Given the description of an element on the screen output the (x, y) to click on. 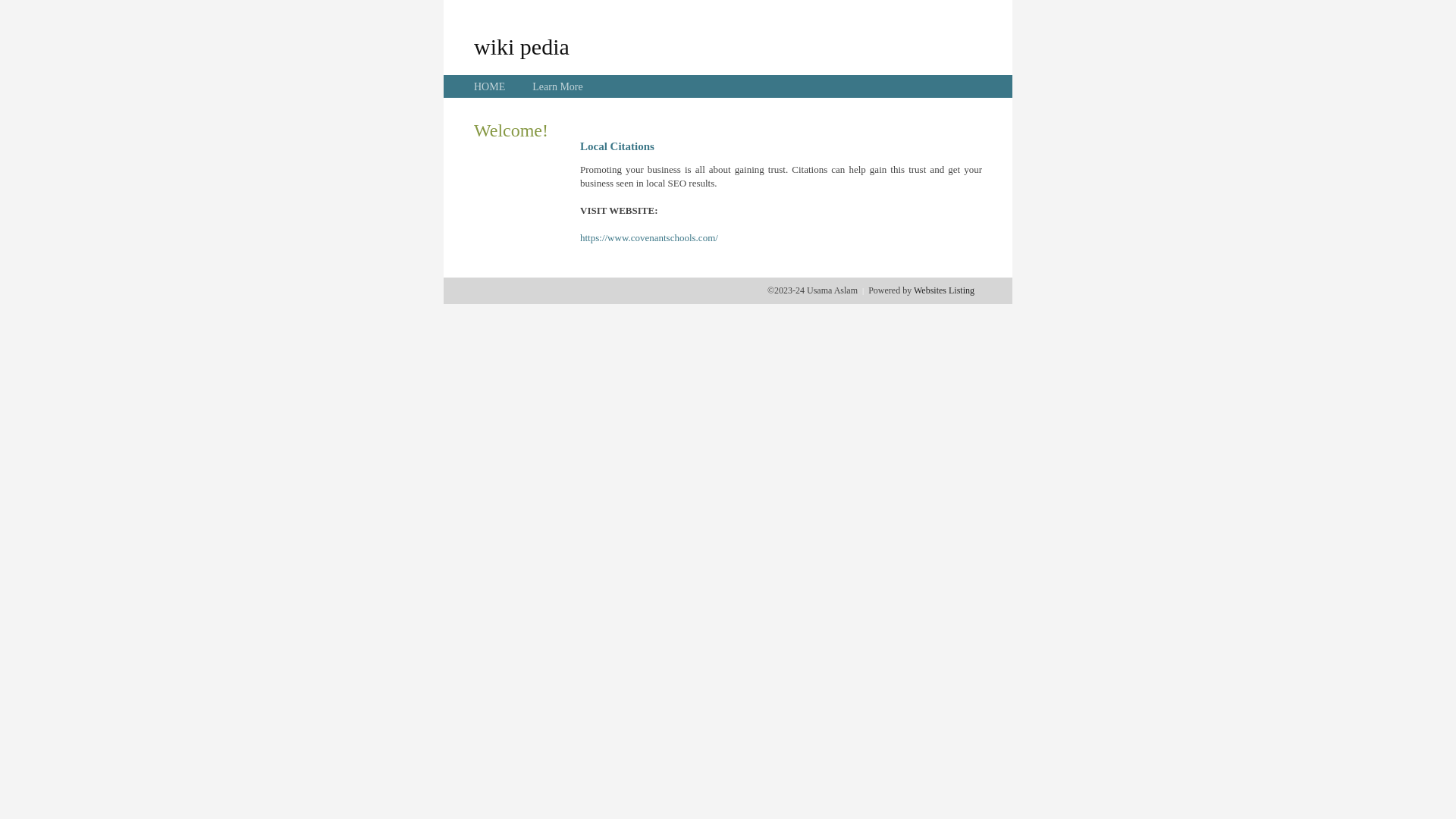
Websites Listing Element type: text (943, 290)
wiki pedia Element type: text (521, 46)
https://www.covenantschools.com/ Element type: text (649, 237)
HOME Element type: text (489, 86)
Learn More Element type: text (557, 86)
